Given the description of an element on the screen output the (x, y) to click on. 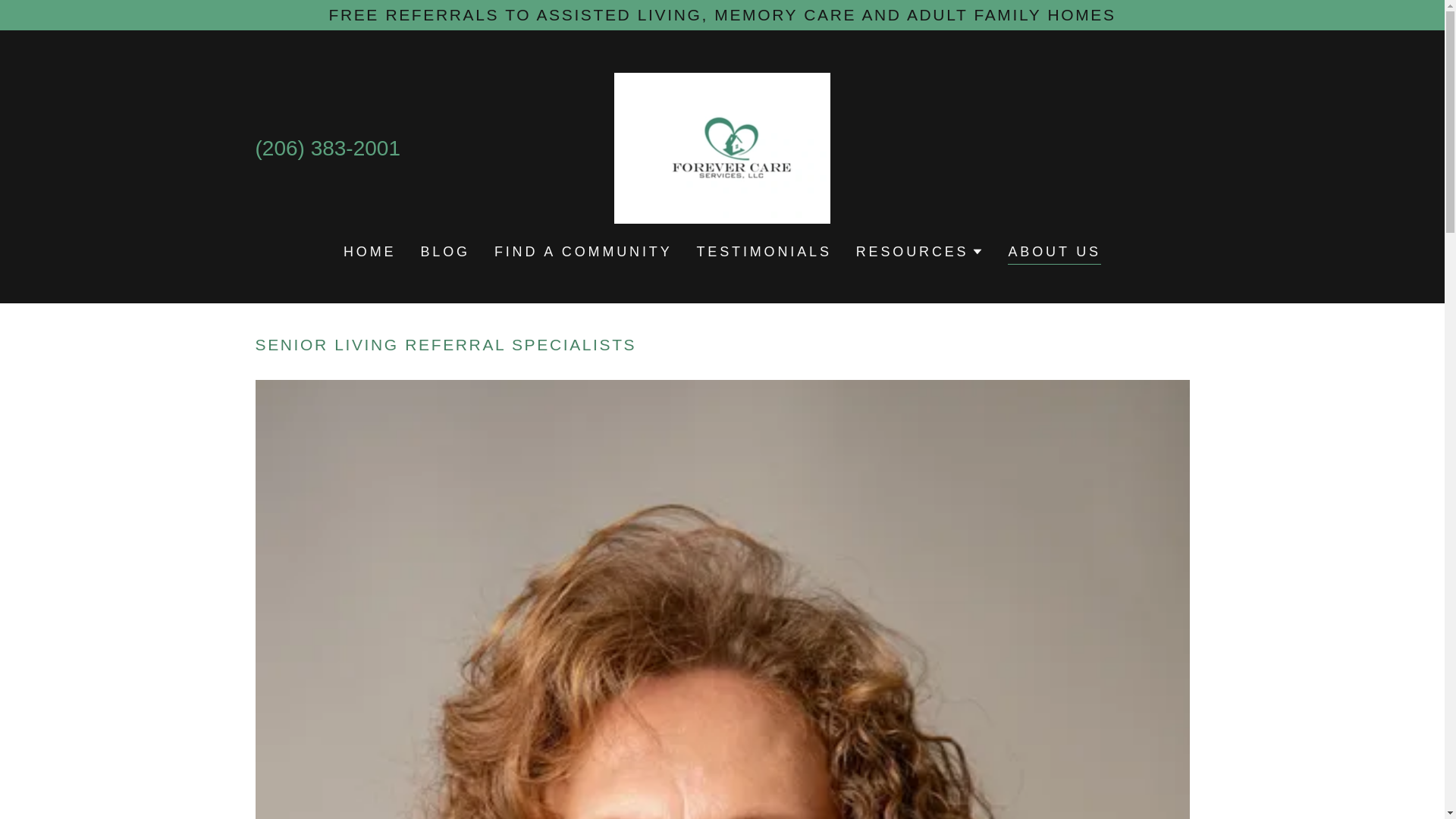
TESTIMONIALS (764, 251)
FIND A COMMUNITY (583, 251)
RESOURCES (920, 251)
BLOG (444, 251)
Forever Care Services, LLC (722, 146)
ABOUT US (1053, 253)
HOME (369, 251)
